Given the description of an element on the screen output the (x, y) to click on. 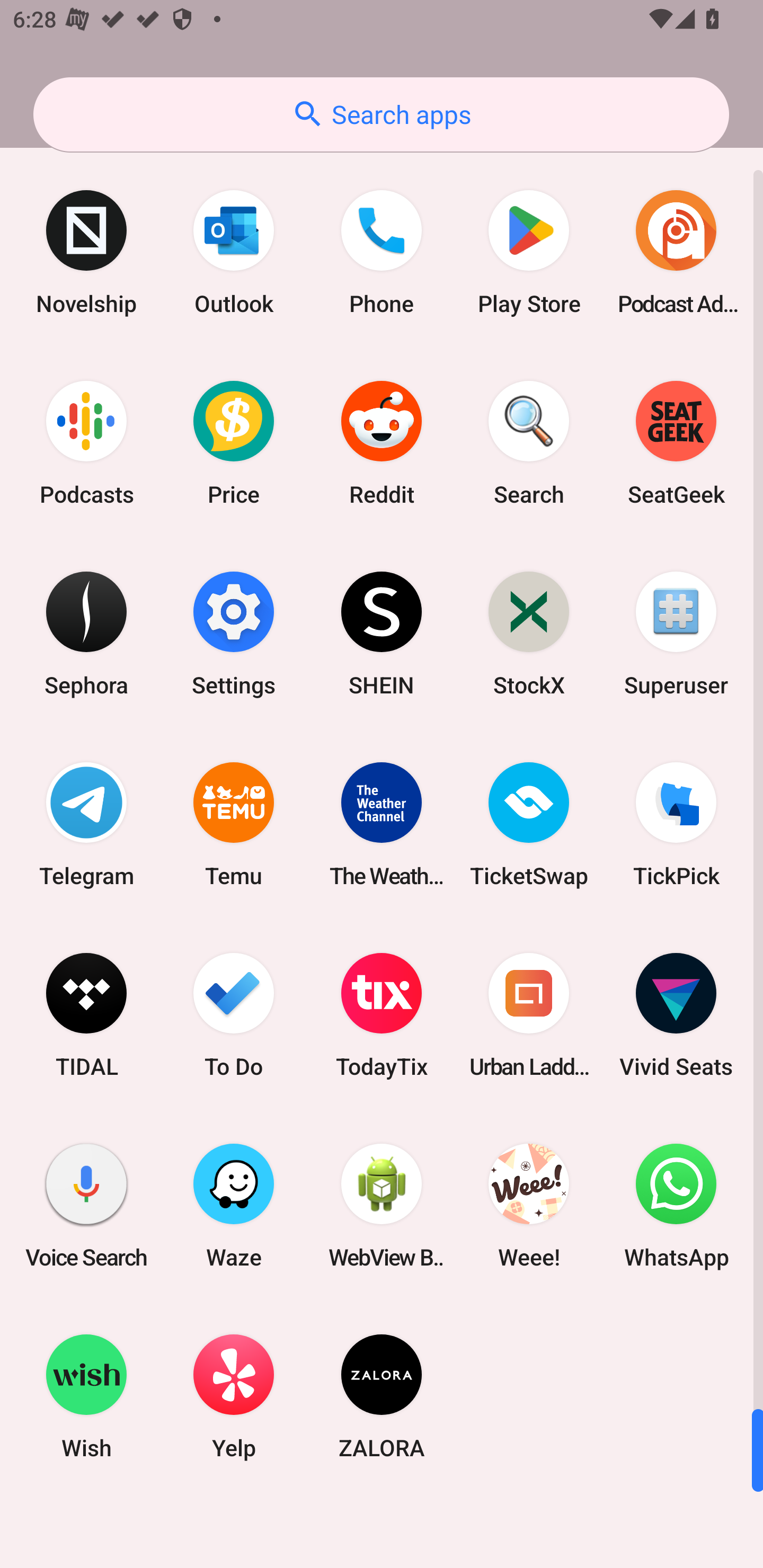
Yelp (233, 1396)
